Given the description of an element on the screen output the (x, y) to click on. 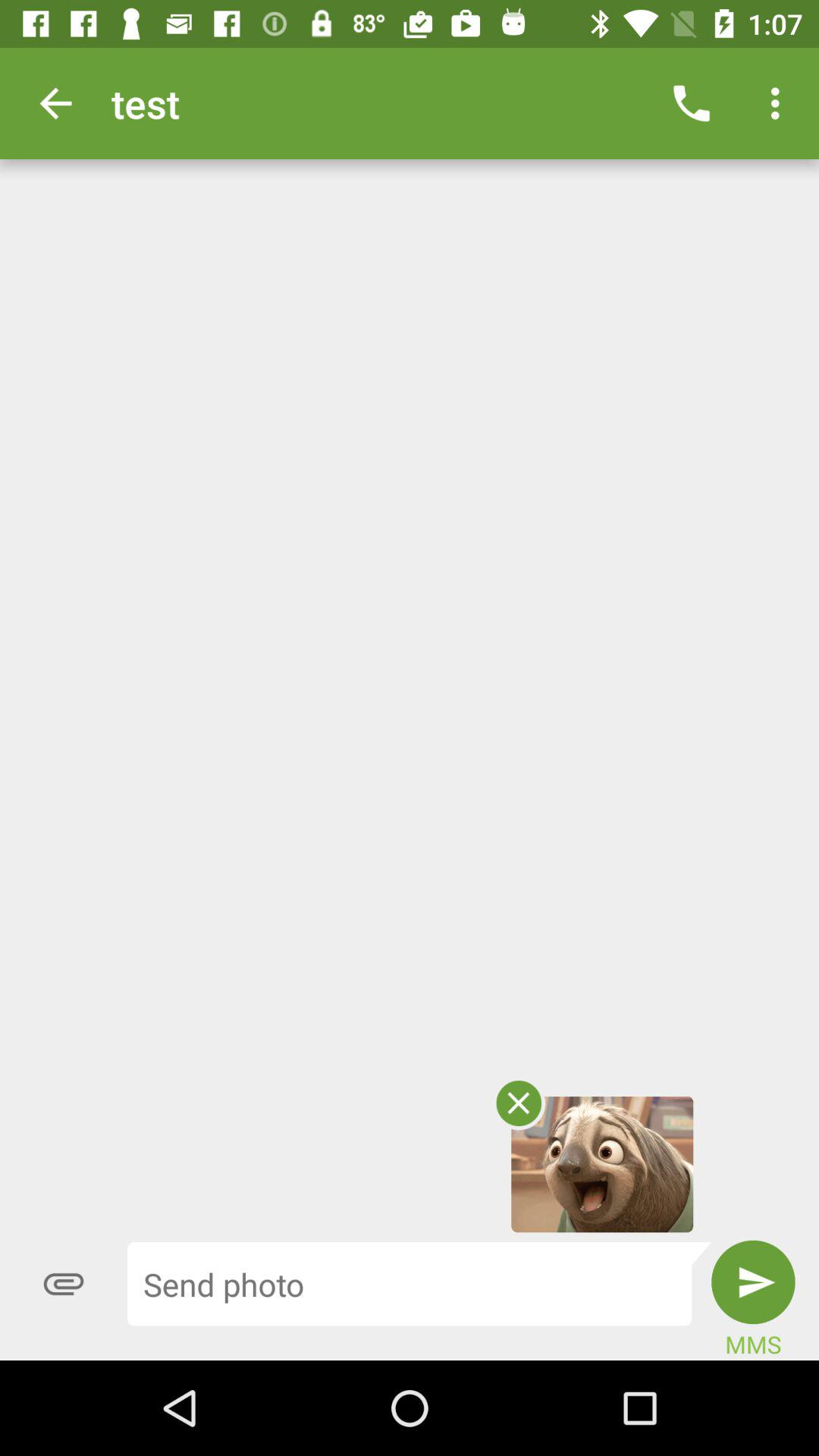
turn on the icon to the right of the test icon (691, 103)
